Given the description of an element on the screen output the (x, y) to click on. 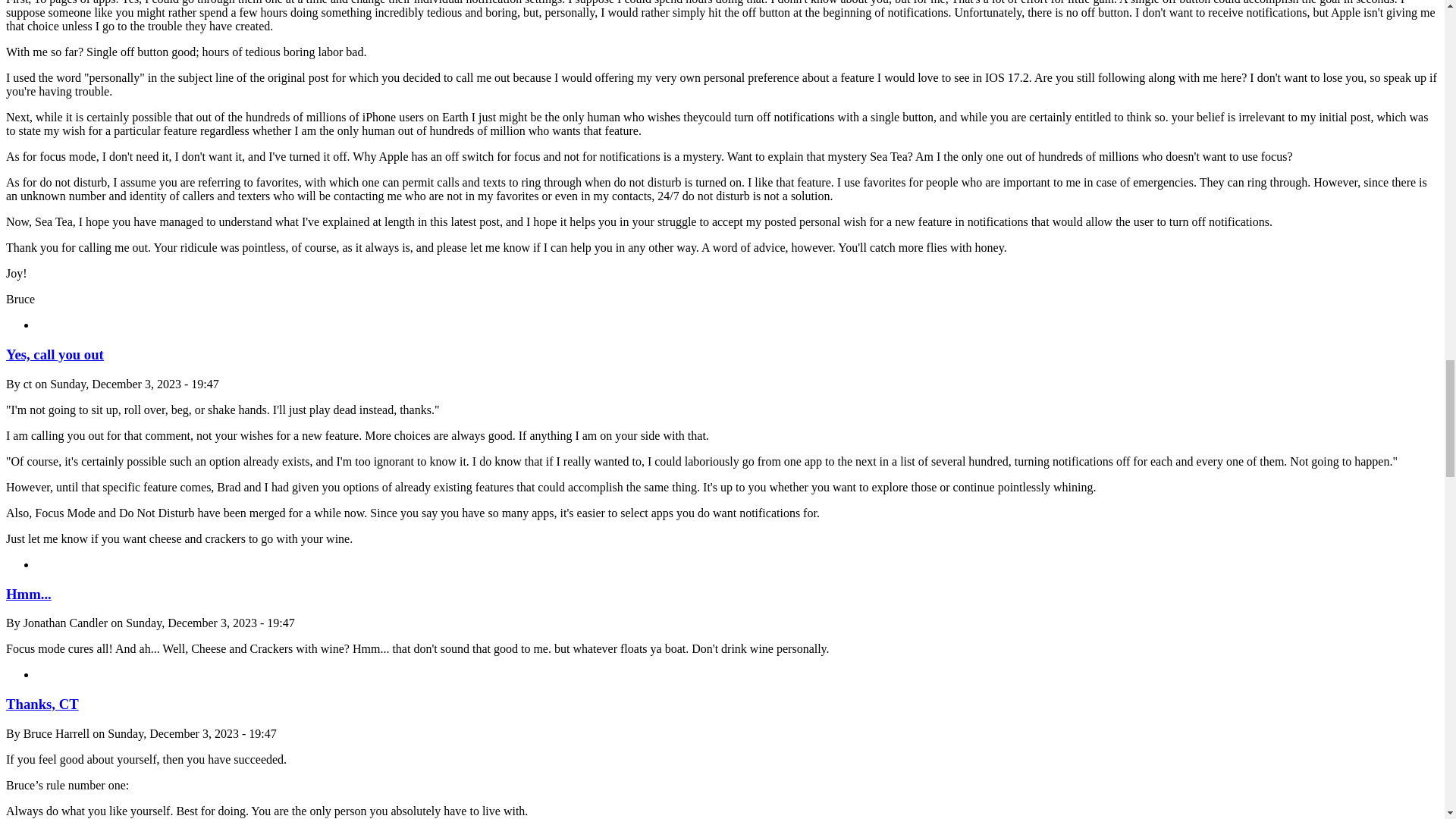
Hmm... (27, 593)
Thanks, CT (41, 703)
Yes, call you out (54, 354)
